Given the description of an element on the screen output the (x, y) to click on. 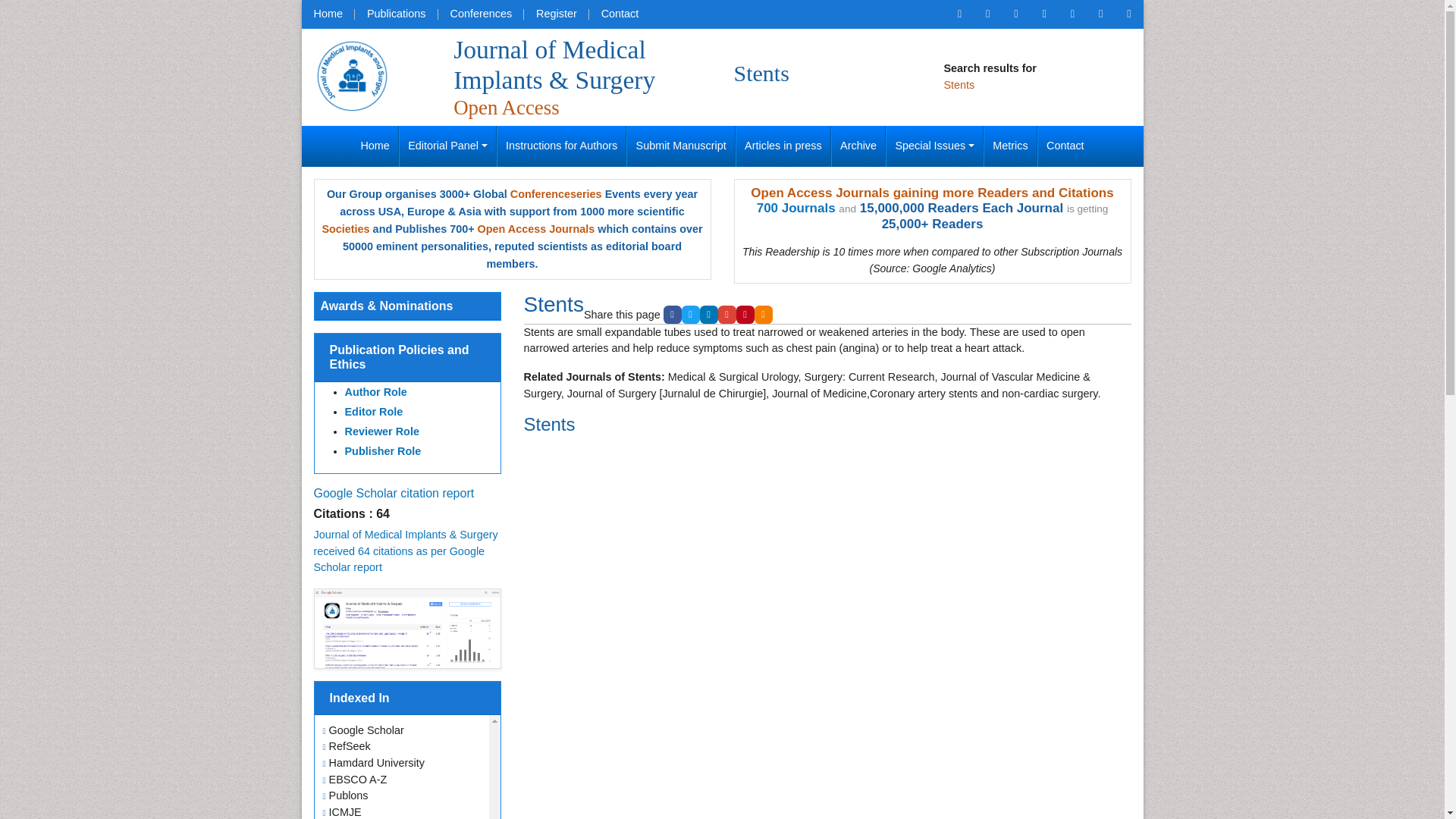
Editorial Panel (447, 146)
Societies (345, 228)
700 Journals (796, 207)
Omics LinkedIn (1043, 14)
Contact (619, 14)
Publisher Role (381, 451)
Register (556, 14)
Home (374, 146)
Conferences (481, 14)
Publications (396, 14)
